Given the description of an element on the screen output the (x, y) to click on. 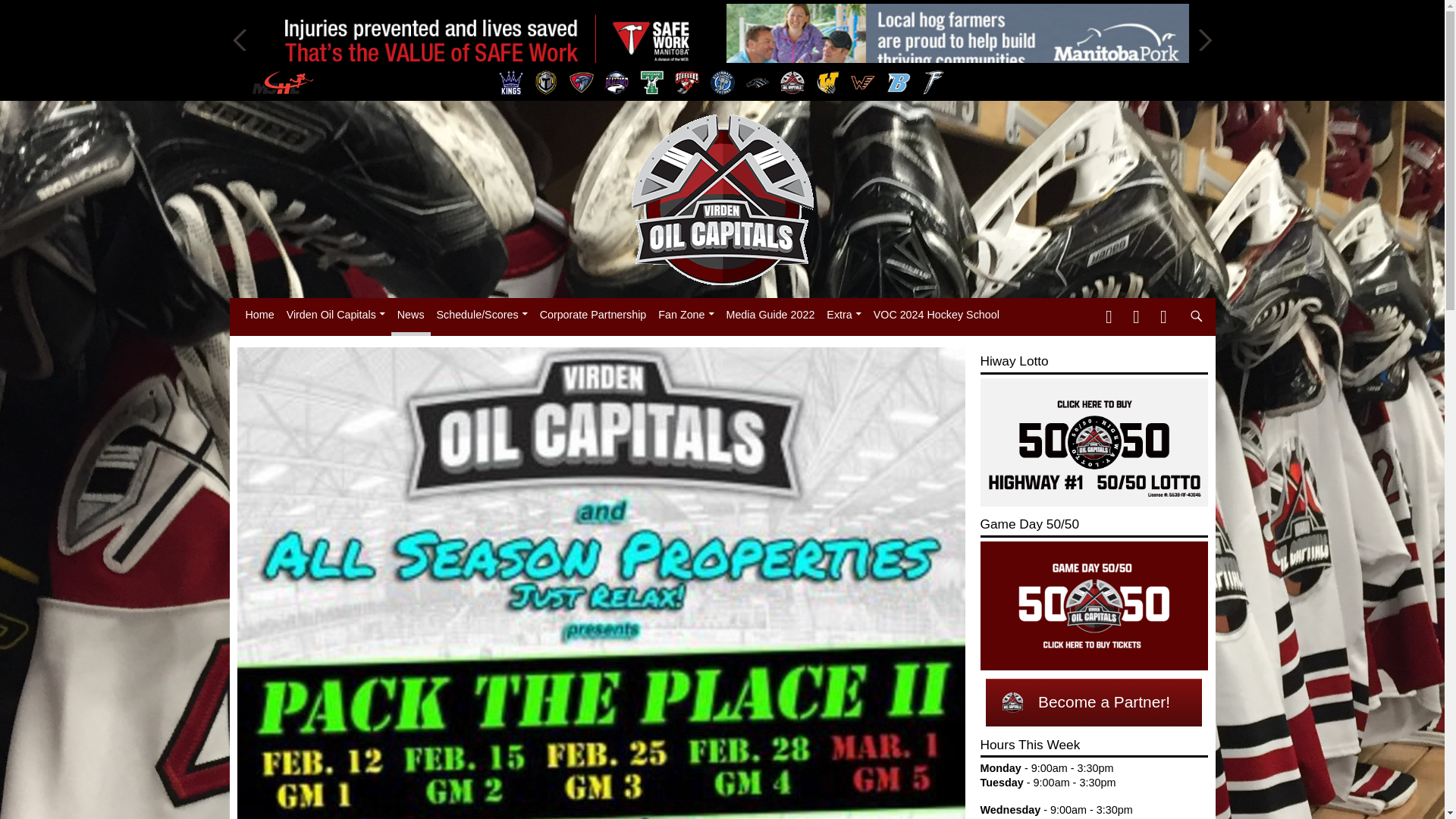
MB PORK (957, 40)
NEXT (1203, 39)
PREVIOUS (239, 39)
Safe Work (487, 40)
